Given the description of an element on the screen output the (x, y) to click on. 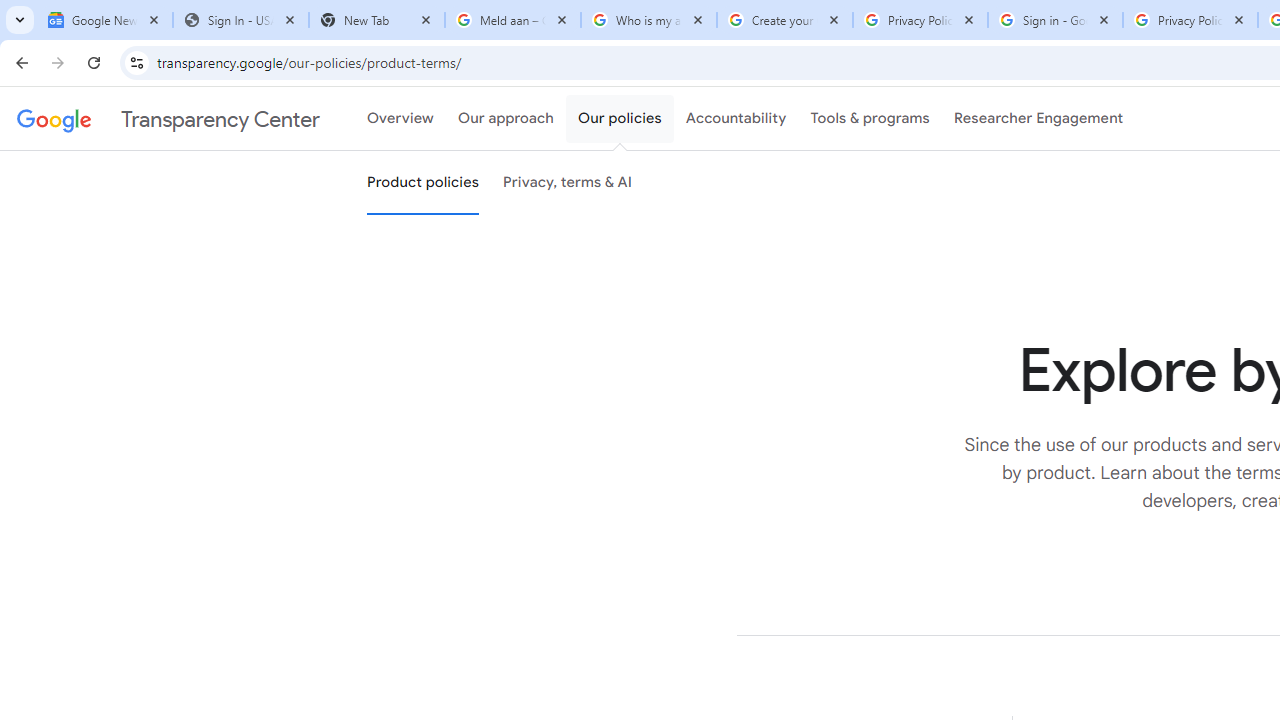
Our approach (506, 119)
Create your Google Account (784, 20)
Who is my administrator? - Google Account Help (648, 20)
Transparency Center (167, 119)
Privacy, terms & AI (568, 183)
Tools & programs (869, 119)
Sign in - Google Accounts (1055, 20)
